Given the description of an element on the screen output the (x, y) to click on. 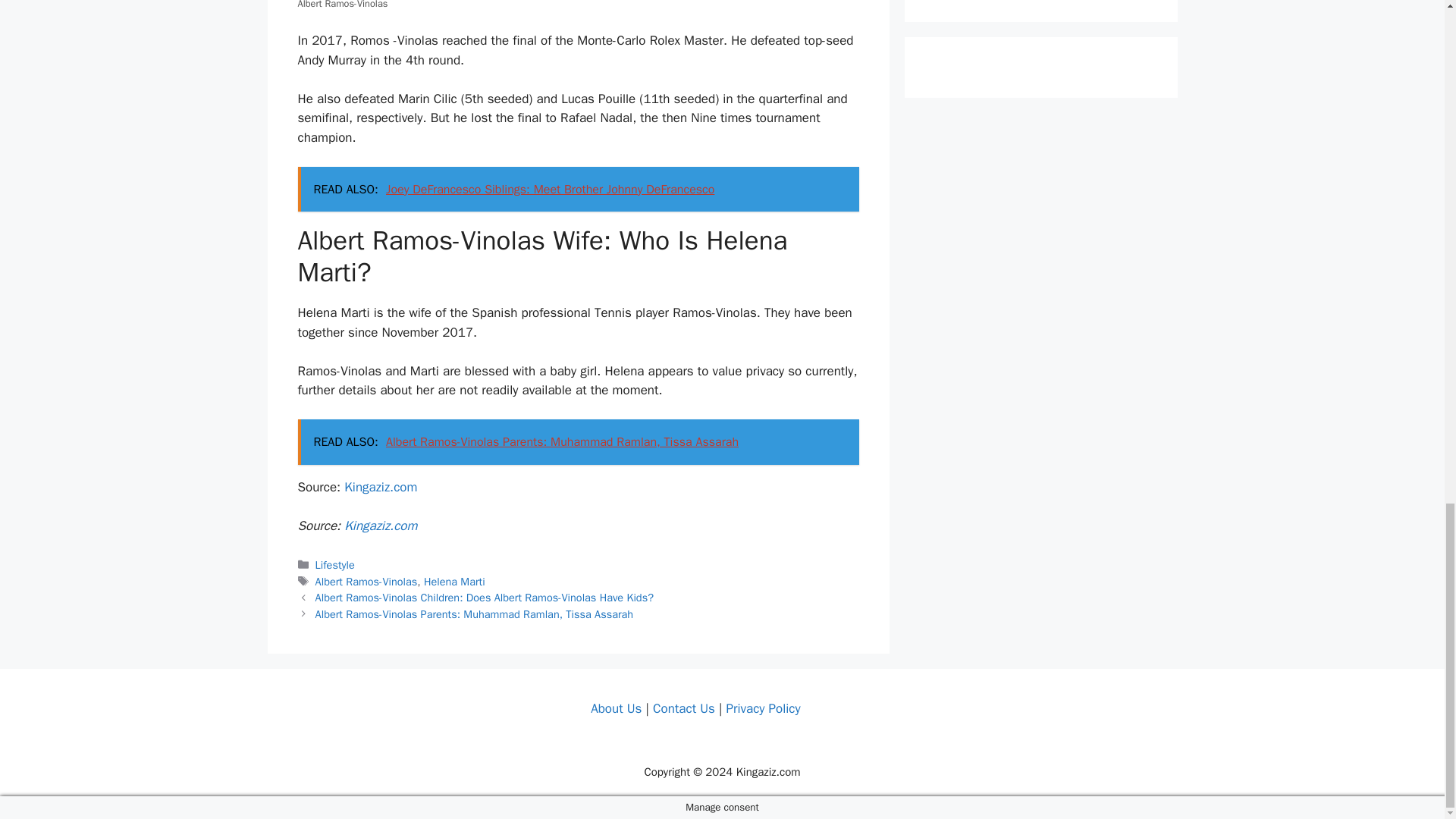
Kingaziz.com (379, 487)
Privacy Policy (762, 708)
Lifestyle (335, 564)
Albert Ramos-Vinolas Parents: Muhammad Ramlan, Tissa Assarah (474, 613)
Helena Marti (453, 581)
Kingaziz.com (379, 525)
Albert Ramos-Vinolas (366, 581)
